Given the description of an element on the screen output the (x, y) to click on. 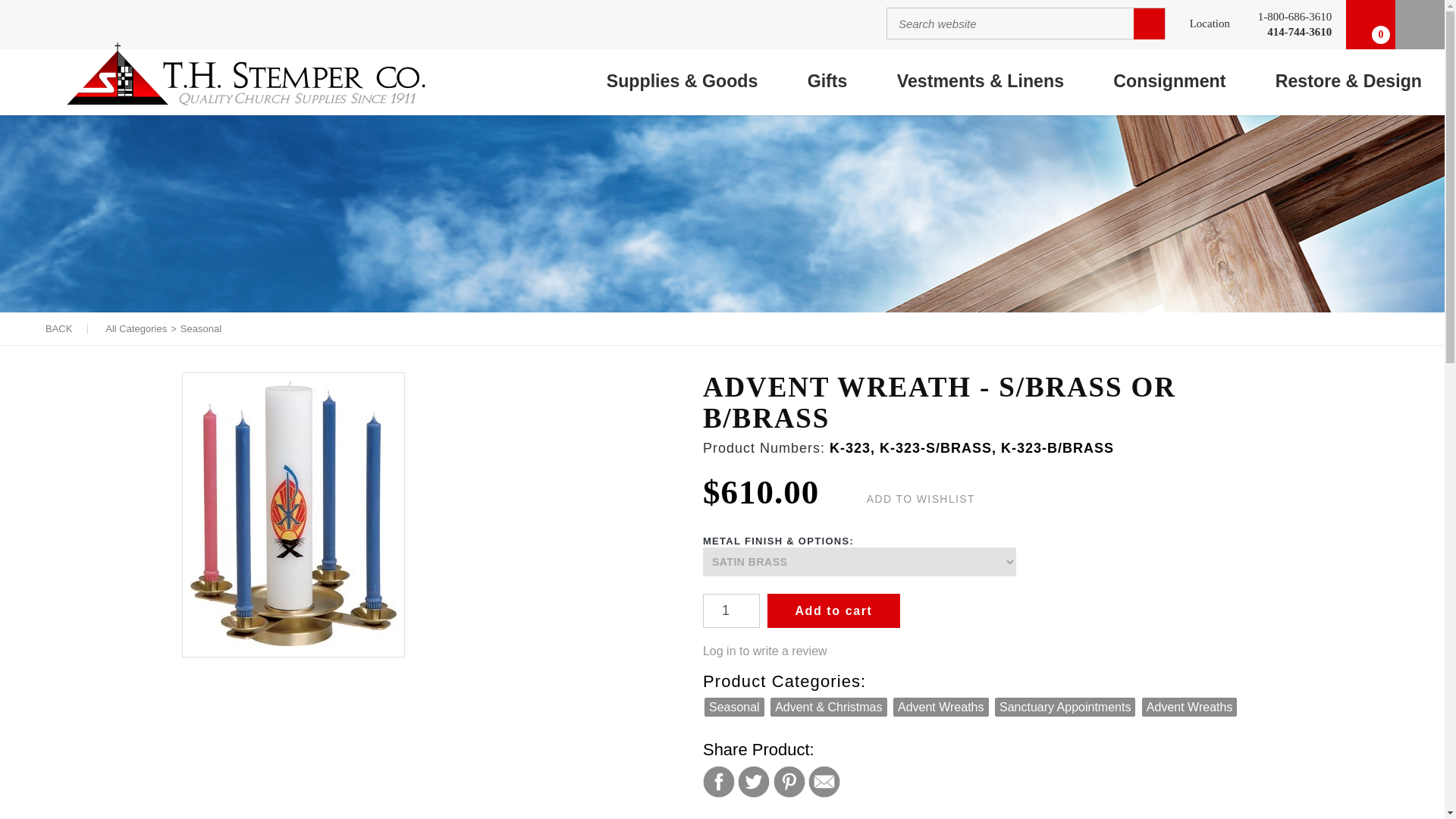
Search (1149, 23)
1-800-686-3610 (1294, 17)
Gifts (827, 82)
414-744-3610 (1294, 32)
Location (1209, 24)
0 (1369, 24)
Consignment (1168, 82)
1 (731, 610)
